Given the description of an element on the screen output the (x, y) to click on. 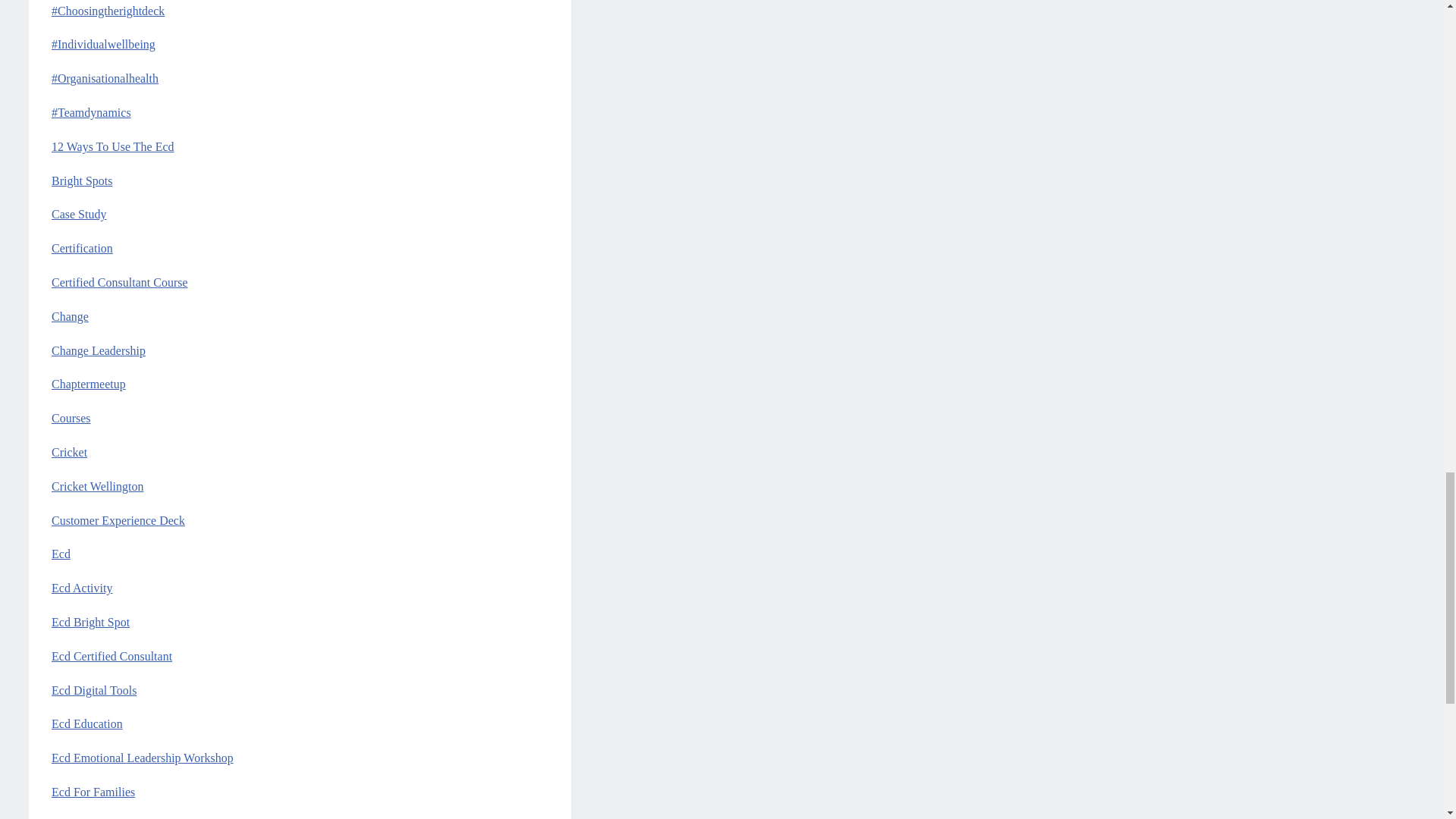
Bright Spots (81, 180)
Cricket (68, 451)
Change (69, 316)
Change Leadership (97, 350)
Case Study (78, 214)
12 Ways To Use The Ecd (112, 146)
Certified Consultant Course (118, 282)
Courses (70, 418)
Chaptermeetup (87, 383)
Cricket Wellington (97, 486)
Certification (81, 247)
